Given the description of an element on the screen output the (x, y) to click on. 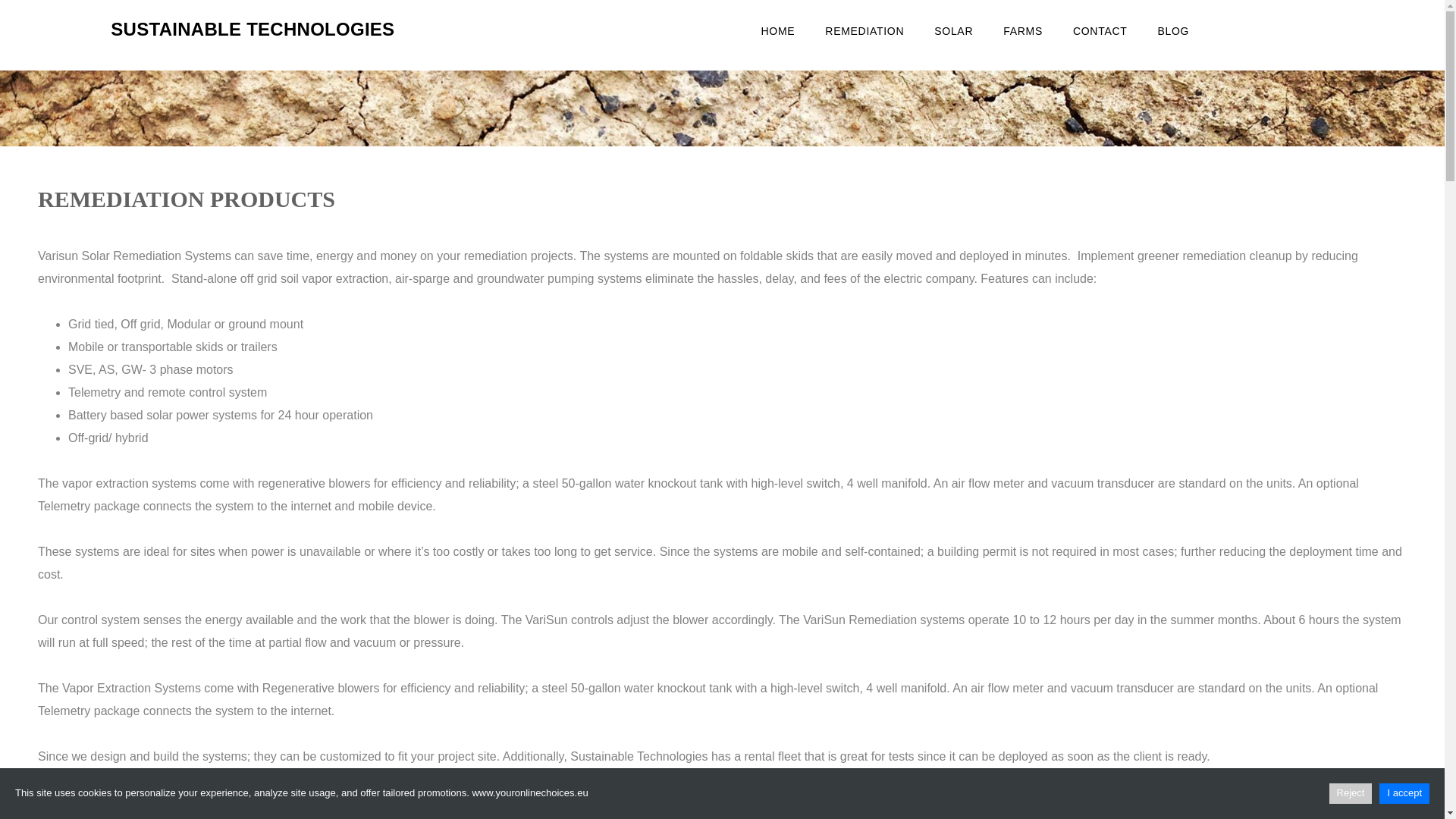
CONTACT (1100, 31)
HOME (777, 31)
BLOG (1172, 31)
SOLAR (953, 31)
REMEDIATION (863, 31)
SUSTAINABLE TECHNOLOGIES (252, 28)
FARMS (1023, 31)
